Given the description of an element on the screen output the (x, y) to click on. 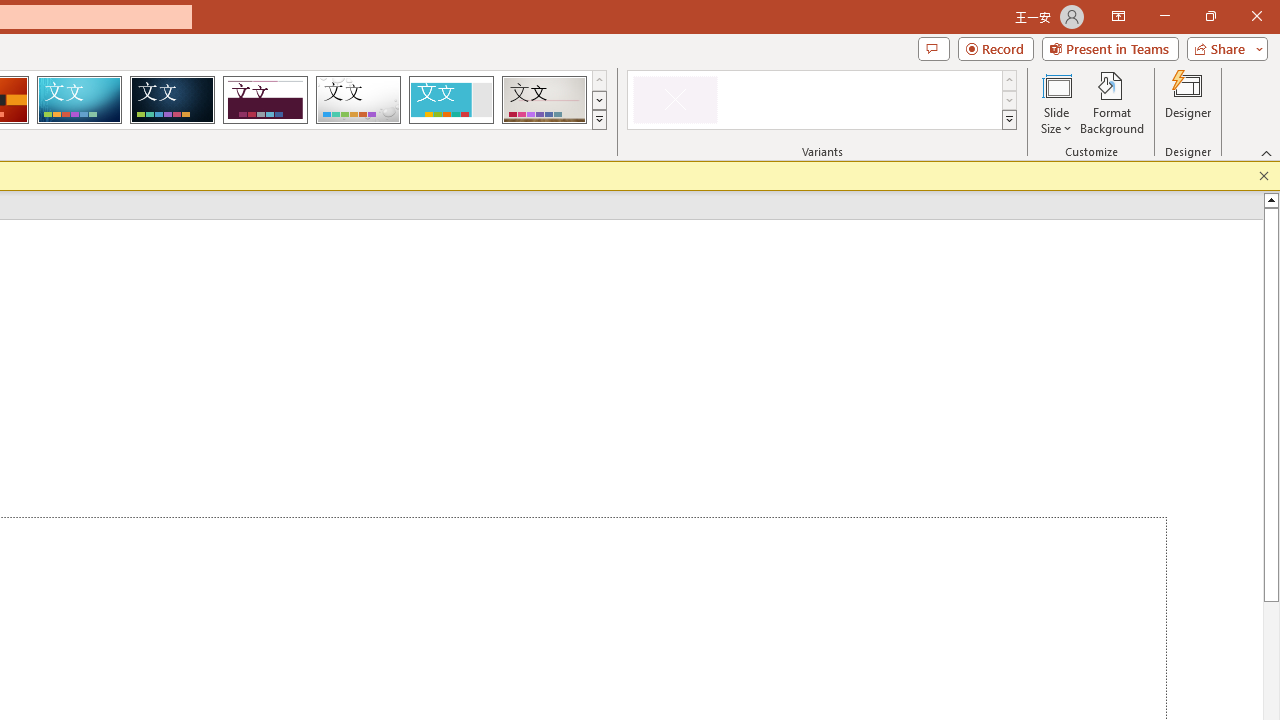
Variants (1009, 120)
Ribbon Display Options (1118, 16)
Class: NetUIImage (1009, 119)
Droplet (358, 100)
Close (1256, 16)
Slide Size (1056, 102)
Minimize (1164, 16)
Dividend (265, 100)
Gallery (544, 100)
Designer (1188, 102)
Record (995, 48)
